Given the description of an element on the screen output the (x, y) to click on. 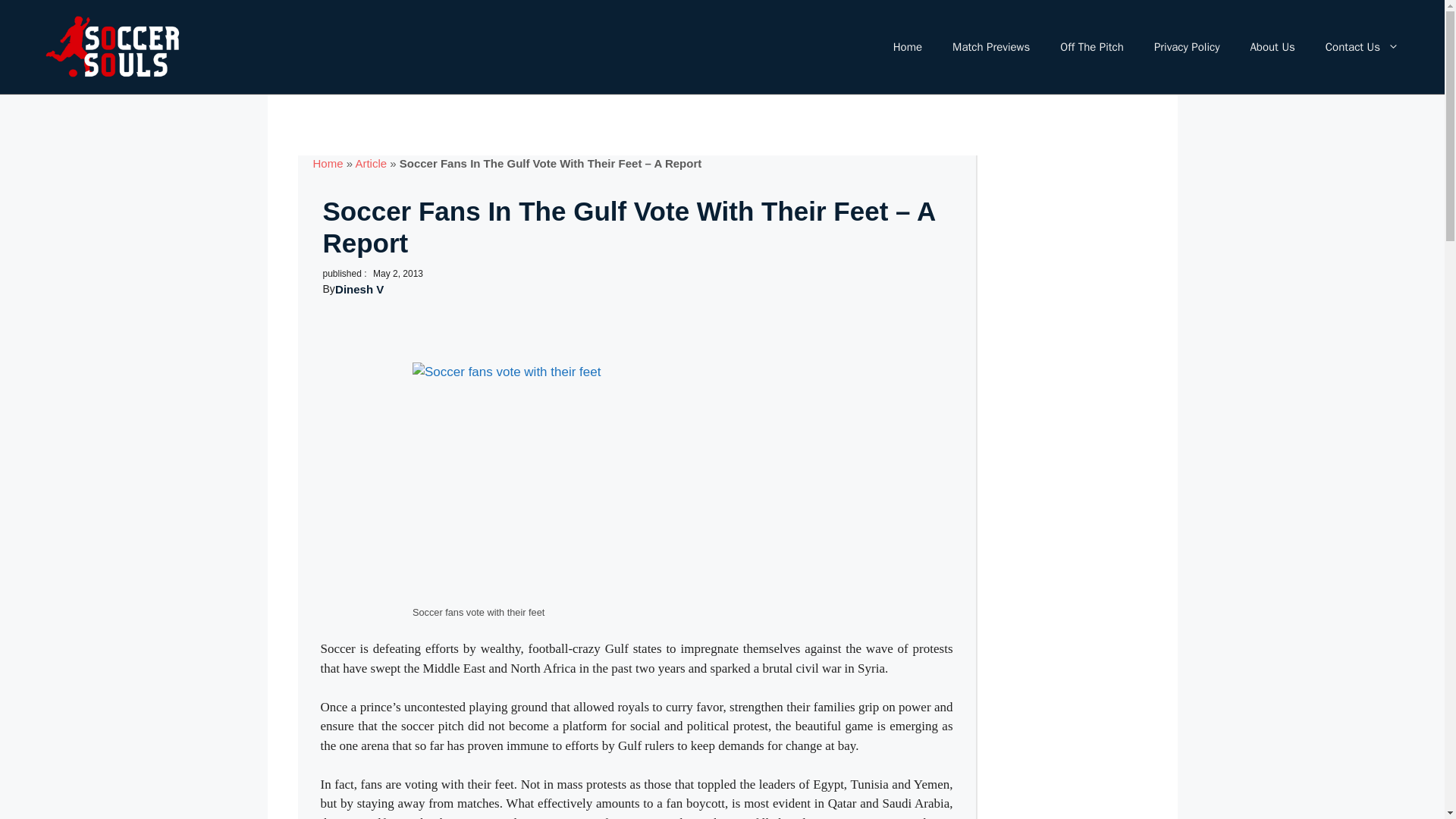
Off The Pitch (1091, 46)
Contact Us (1361, 46)
Article (371, 163)
Dinesh V (359, 288)
Match Previews (991, 46)
About Us (1271, 46)
Privacy Policy (1186, 46)
Home (327, 163)
Home (907, 46)
